Given the description of an element on the screen output the (x, y) to click on. 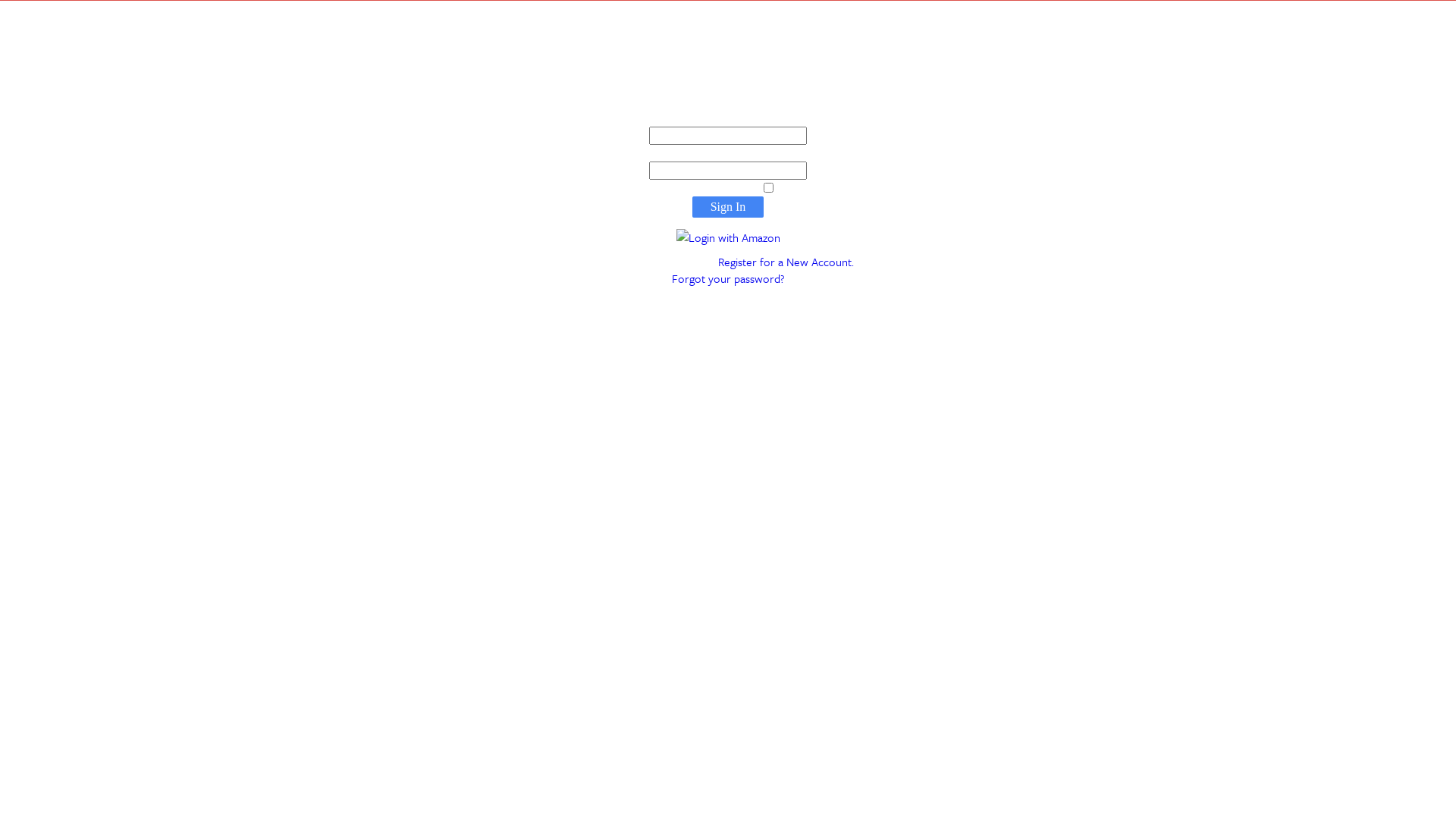
Register for a New Account. Element type: text (785, 261)
Sign In Element type: text (728, 206)
Support Element type: text (746, 384)
Forgot your password? Element type: text (727, 277)
Silvrback Element type: text (727, 368)
